Given the description of an element on the screen output the (x, y) to click on. 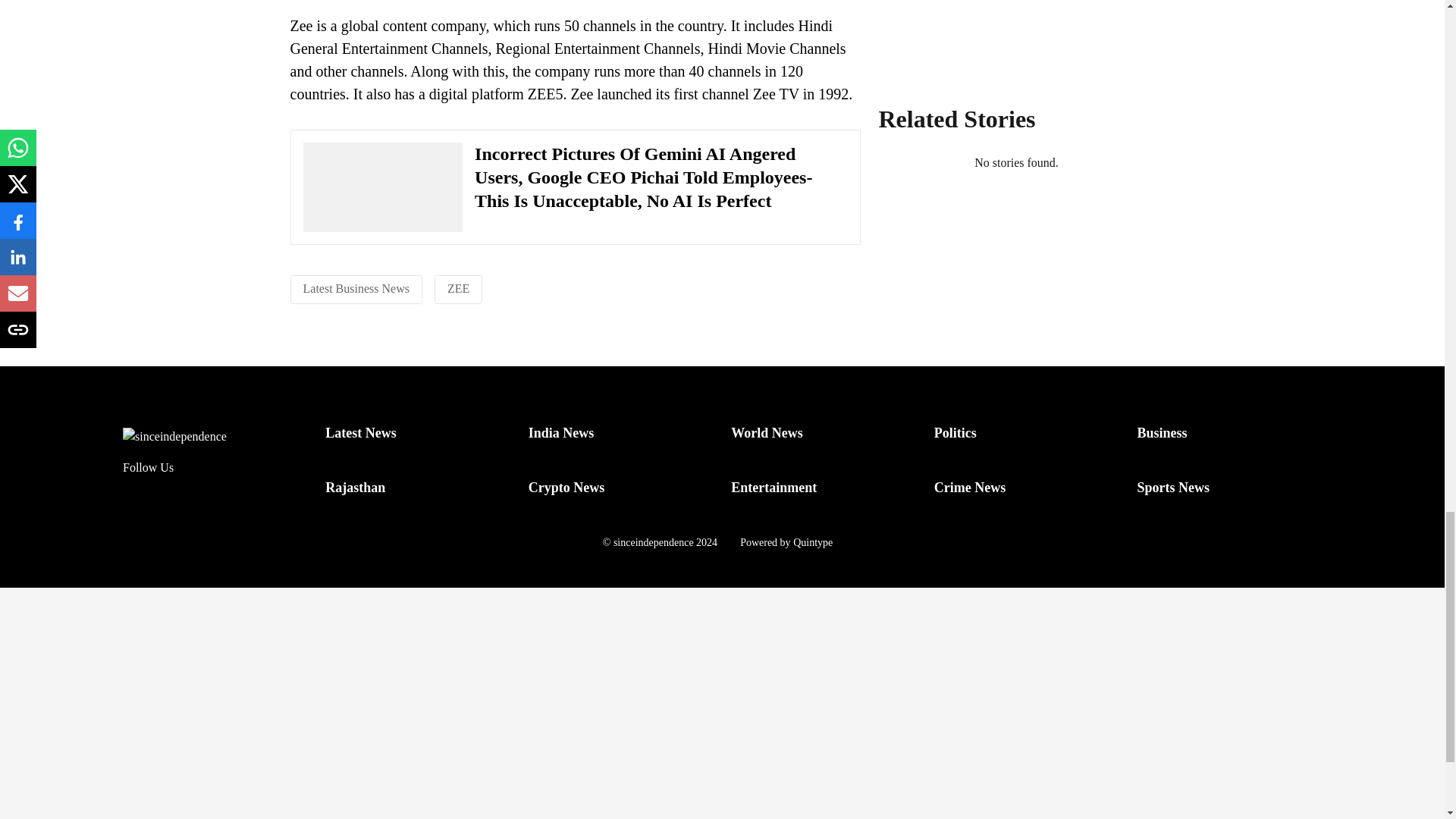
Rajasthan (354, 487)
India News (561, 432)
Crypto News (566, 487)
Business (1161, 432)
Entertainment (773, 487)
Politics (955, 432)
ZEE (457, 287)
World News (766, 432)
Latest Business News (355, 287)
